Given the description of an element on the screen output the (x, y) to click on. 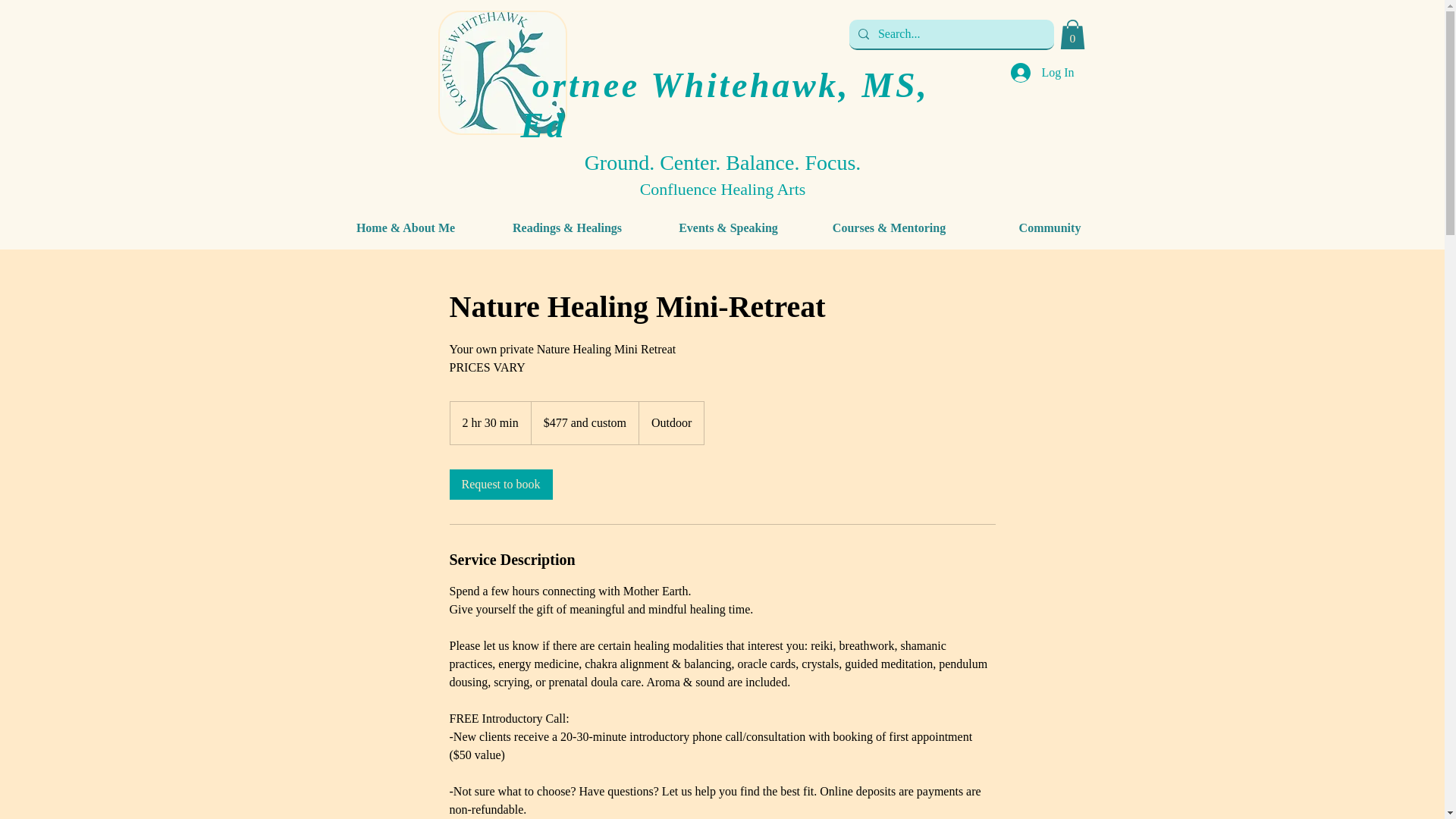
Community (1049, 227)
Request to book (499, 484)
Log In (1042, 72)
